Given the description of an element on the screen output the (x, y) to click on. 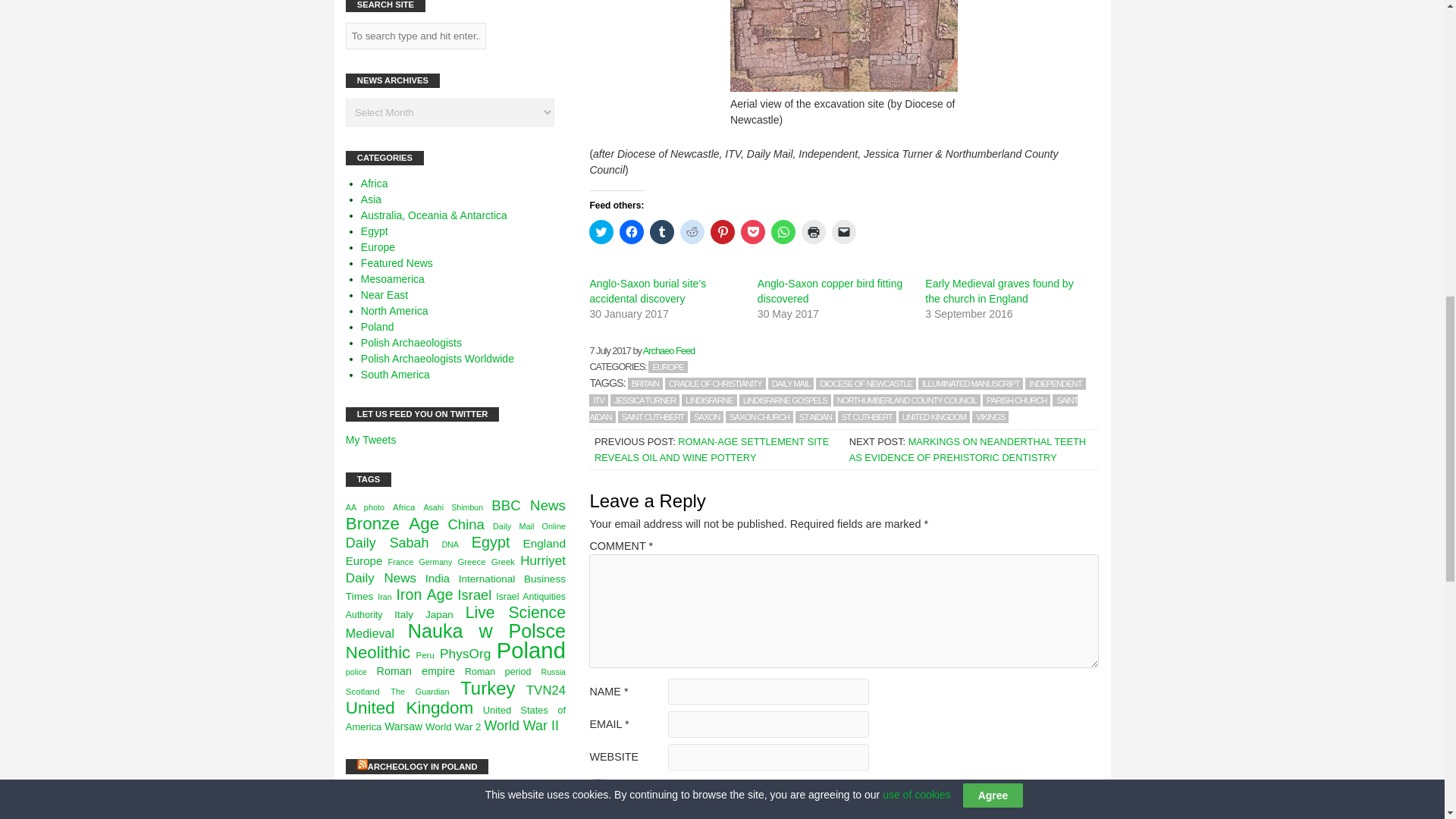
Archaeo Feed (668, 350)
Click to share on Pocket (753, 232)
CRADLE OF CHRISTIANITY (715, 383)
INDEPENDENT (1054, 383)
EUROPE (667, 367)
Click to email a link to a friend (843, 232)
Click to share on Pinterest (722, 232)
DIOCESE OF NEWCASTLE (865, 383)
Anglo-Saxon copper bird fitting discovered (829, 290)
Click to share on WhatsApp (782, 232)
JESSICA TURNER (644, 399)
Posts by Archaeo Feed (668, 350)
Friday, Jul 7, 2017, 1:00 am (609, 350)
DAILY MAIL (790, 383)
Click to share on Facebook (631, 232)
